Given the description of an element on the screen output the (x, y) to click on. 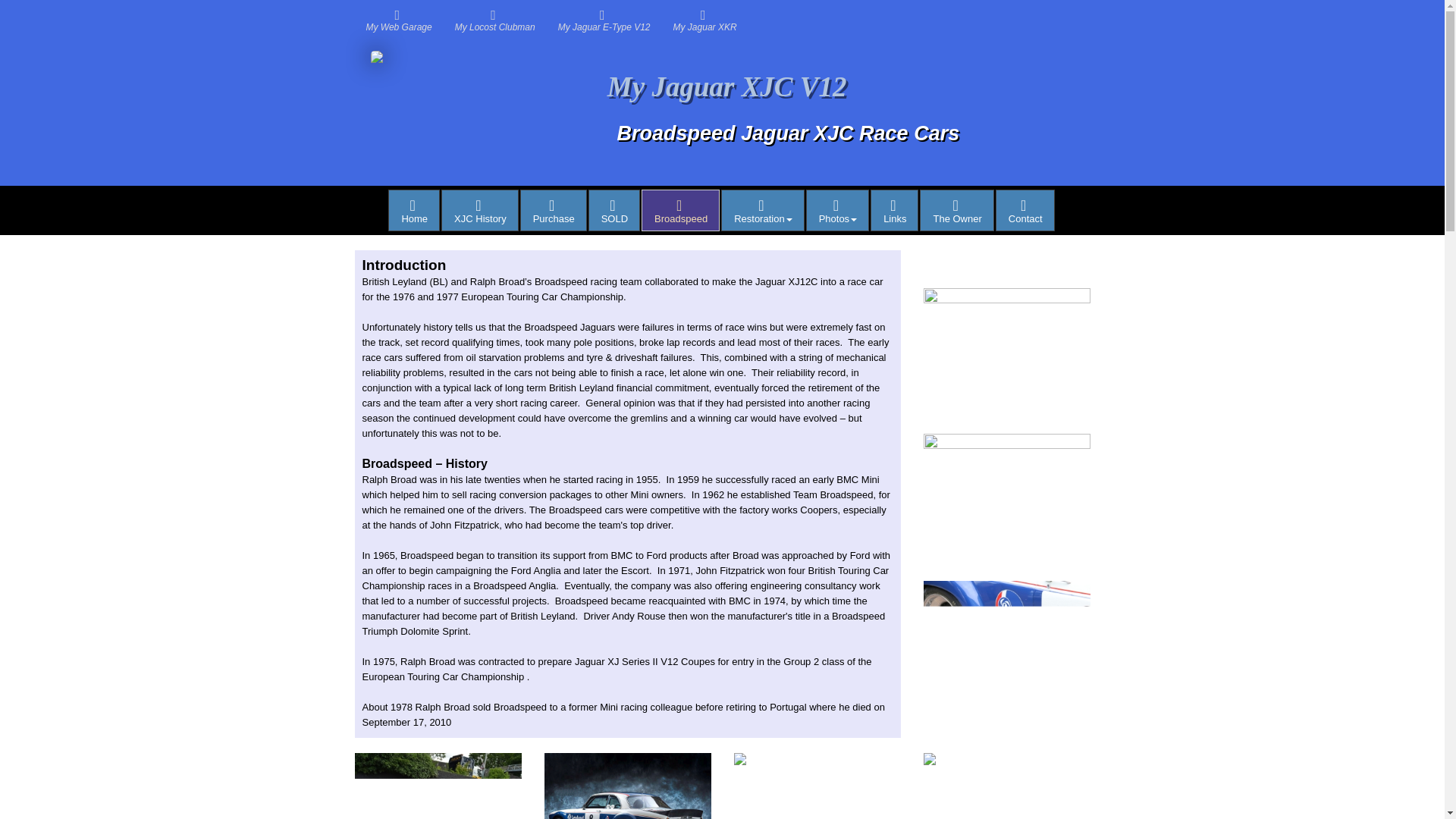
Jaguar XJC V12 (413, 209)
XJC Home Page (469, 106)
My Jaguar E-Type V12 website (413, 209)
Contact me (604, 20)
Meet the owner (1024, 209)
Ozcarnut - My Web Garage (894, 209)
Big flared guards to cover huge wheels and tyres (956, 209)
Broadspeed Racing XJC (552, 209)
